Given the description of an element on the screen output the (x, y) to click on. 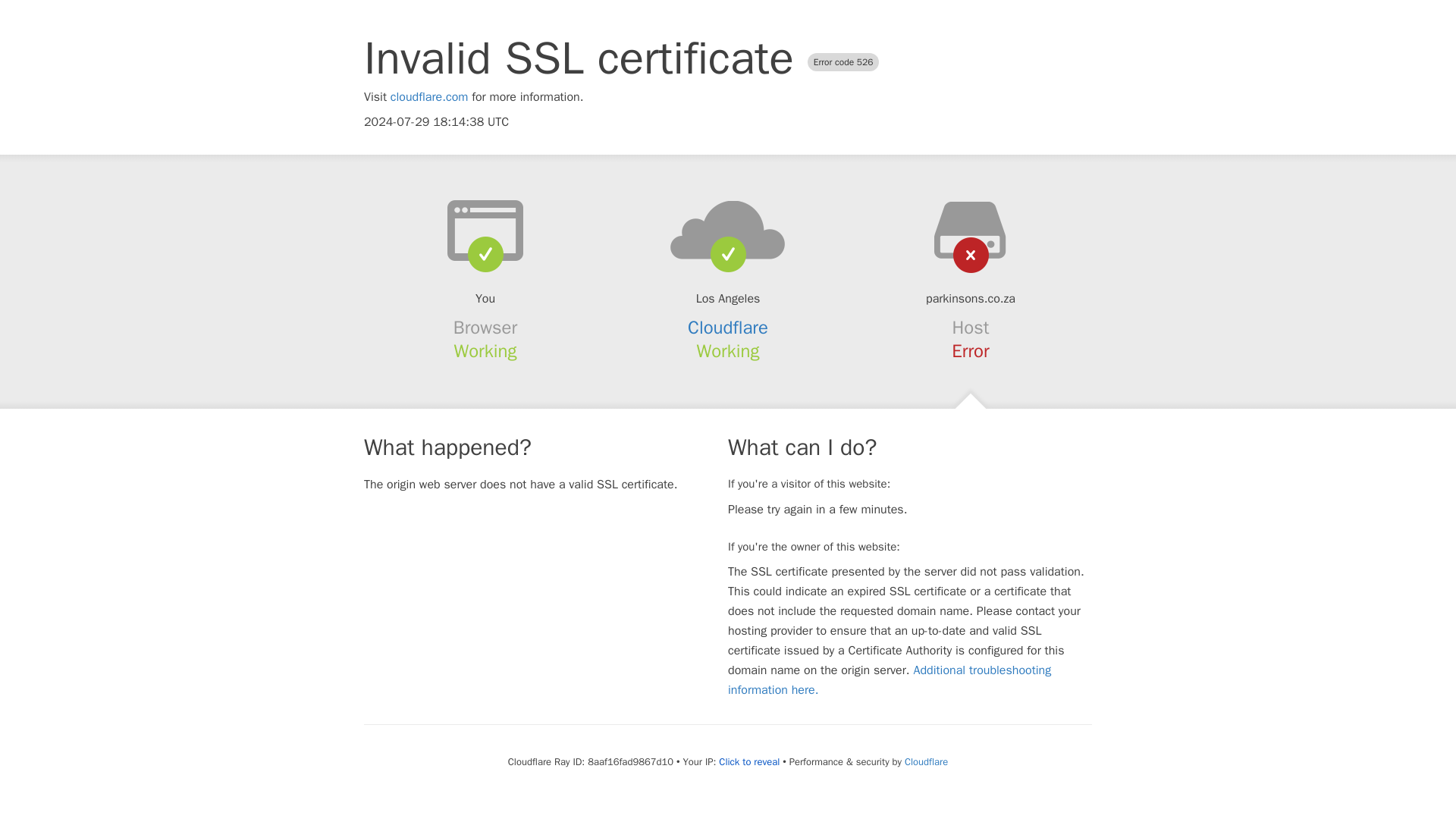
Click to reveal (748, 762)
Additional troubleshooting information here. (889, 679)
Cloudflare (925, 761)
cloudflare.com (429, 96)
Cloudflare (727, 327)
